Given the description of an element on the screen output the (x, y) to click on. 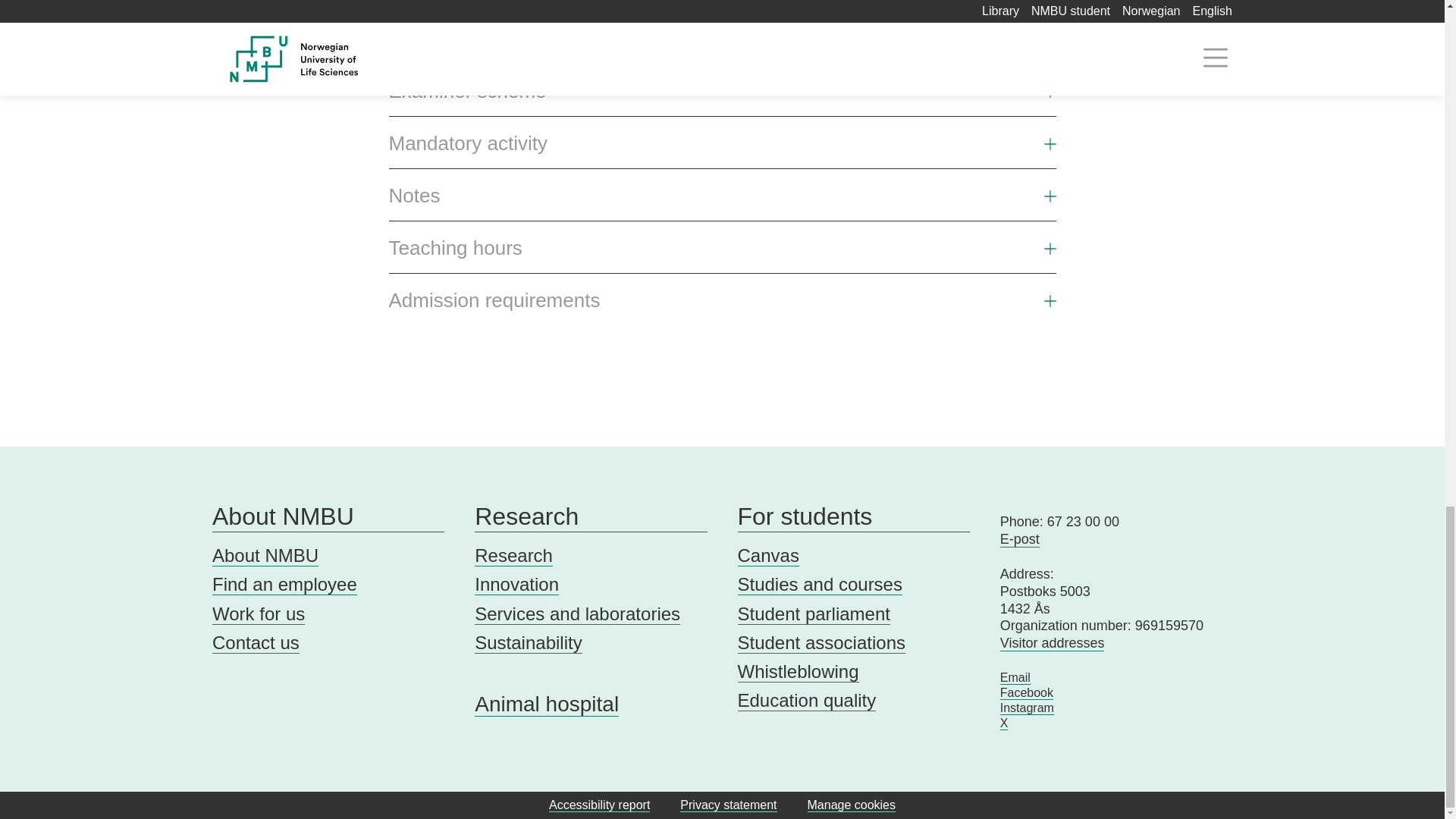
Admission requirements (721, 306)
Admission requirements (493, 300)
Notes (413, 195)
Recommended prerequisites (721, 6)
About NMBU (328, 516)
Teaching hours (721, 253)
About NMBU (265, 555)
Contact us (255, 642)
Mandatory activity (467, 143)
Mandatory activity (721, 149)
Notes (721, 201)
For students (852, 516)
Assessment method (721, 44)
Examiner scheme (721, 97)
Teaching hours (454, 248)
